Given the description of an element on the screen output the (x, y) to click on. 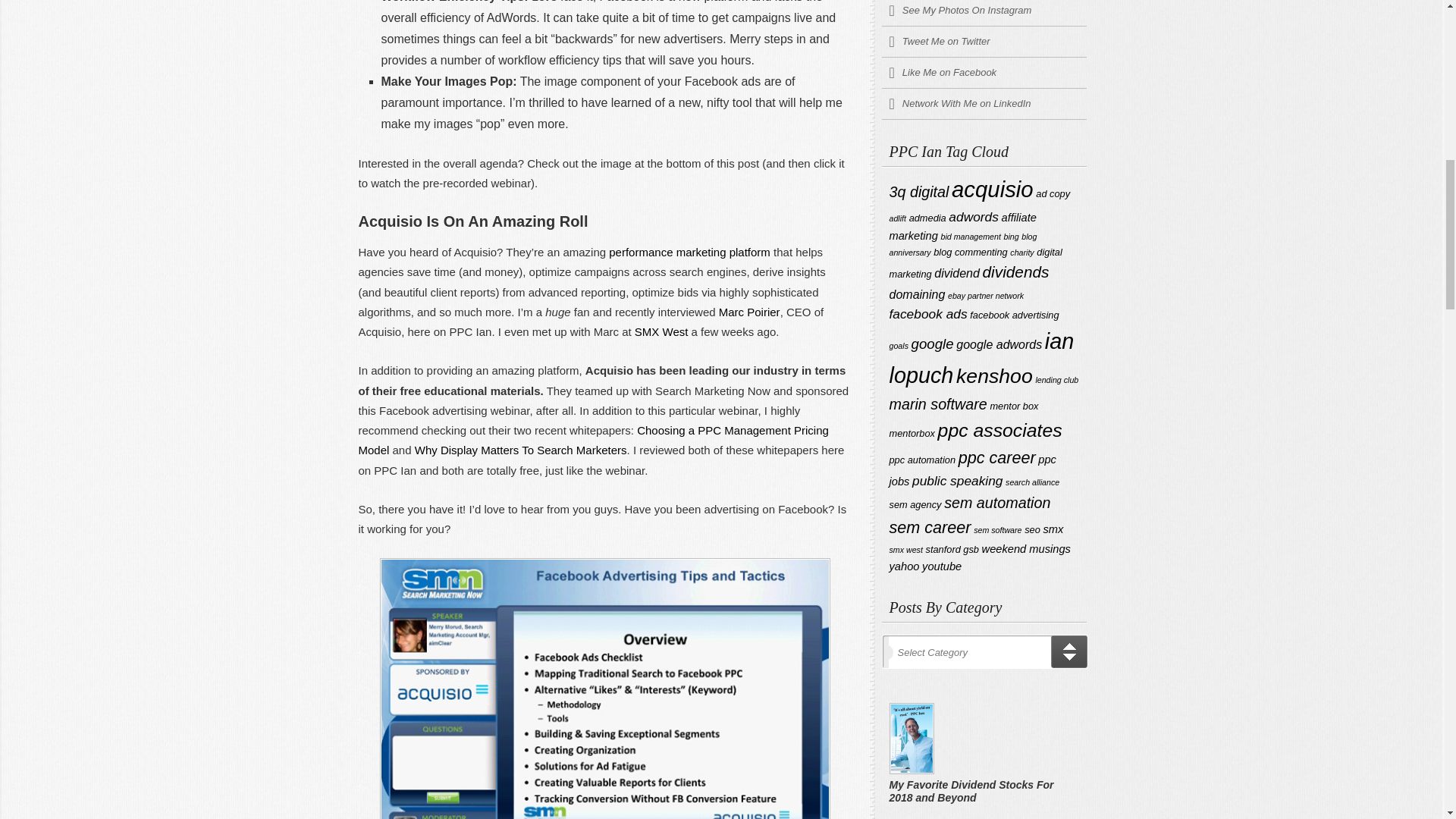
Facebook Webinar (603, 688)
Why Display Matters To Search Marketers (520, 449)
Marc Poirier (749, 311)
Choosing a PPC Management Pricing Model (593, 440)
SMX West (661, 331)
performance marketing platform (689, 251)
